Given the description of an element on the screen output the (x, y) to click on. 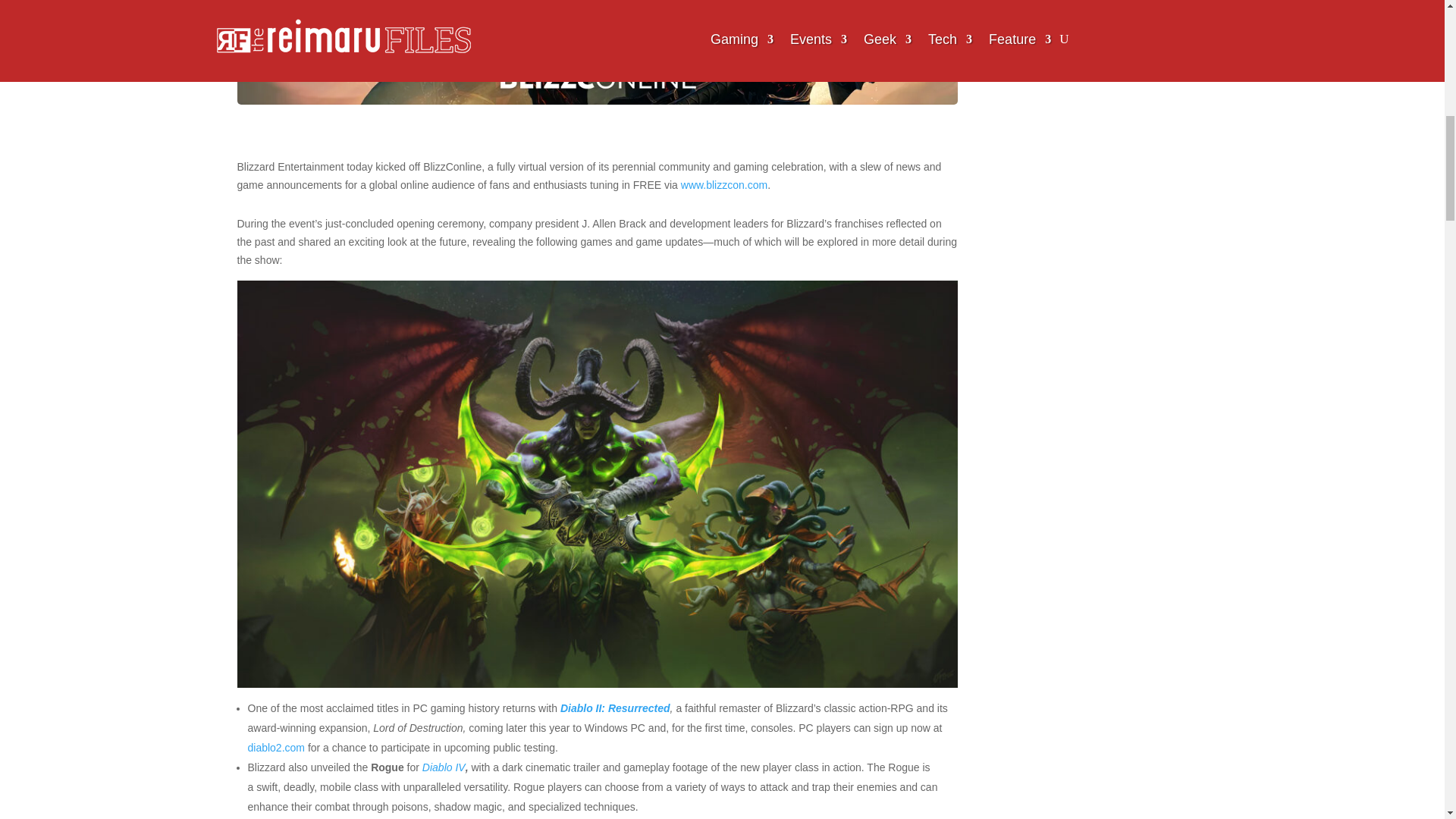
Diablo II: Resurrected (614, 707)
BlizzConline Key Art (595, 52)
diablo2.com (275, 747)
www.blizzcon.com (724, 184)
